Given the description of an element on the screen output the (x, y) to click on. 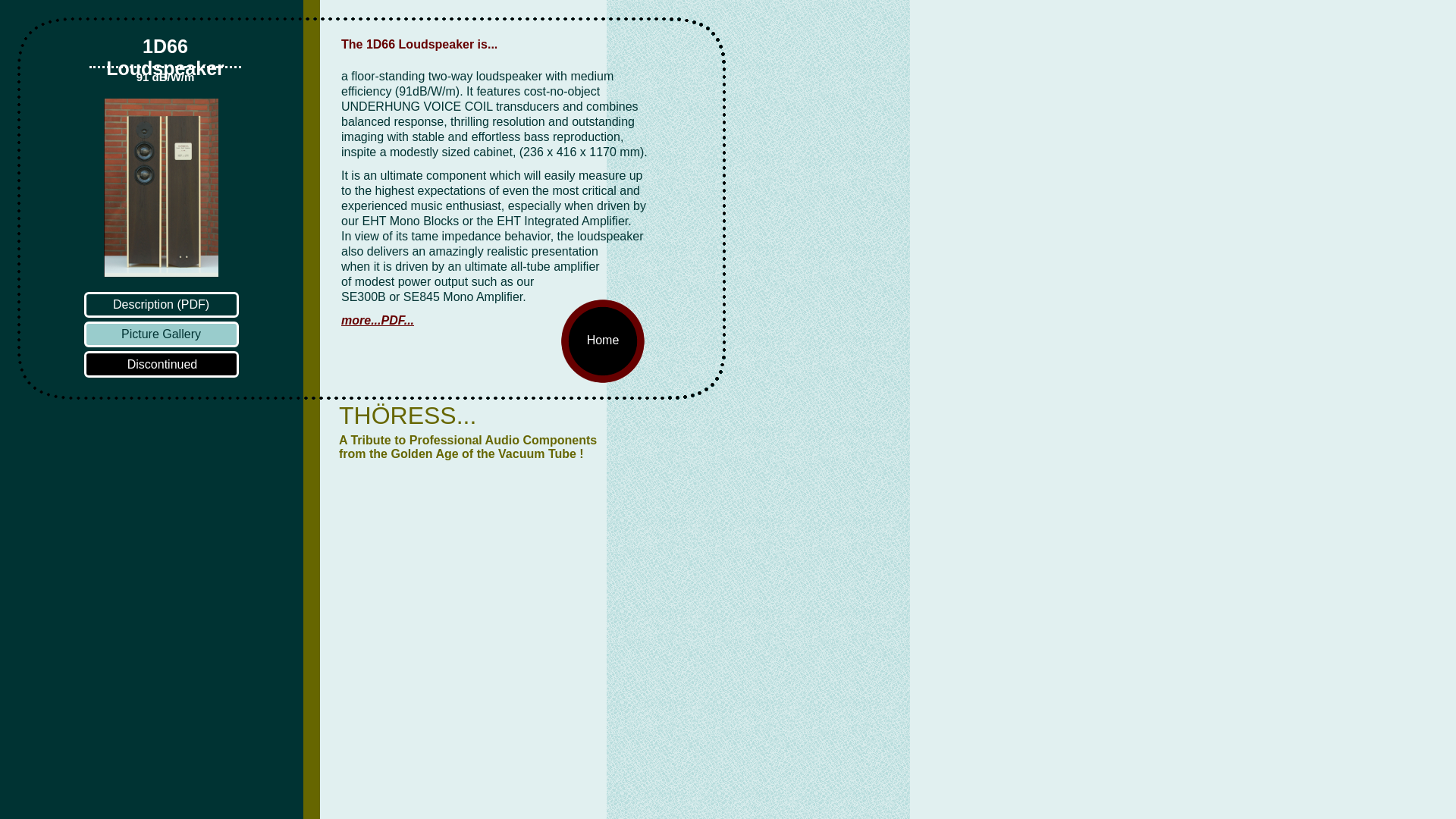
Discontinued (160, 364)
Picture Gallery (160, 334)
more...PDF... (439, 320)
